Given the description of an element on the screen output the (x, y) to click on. 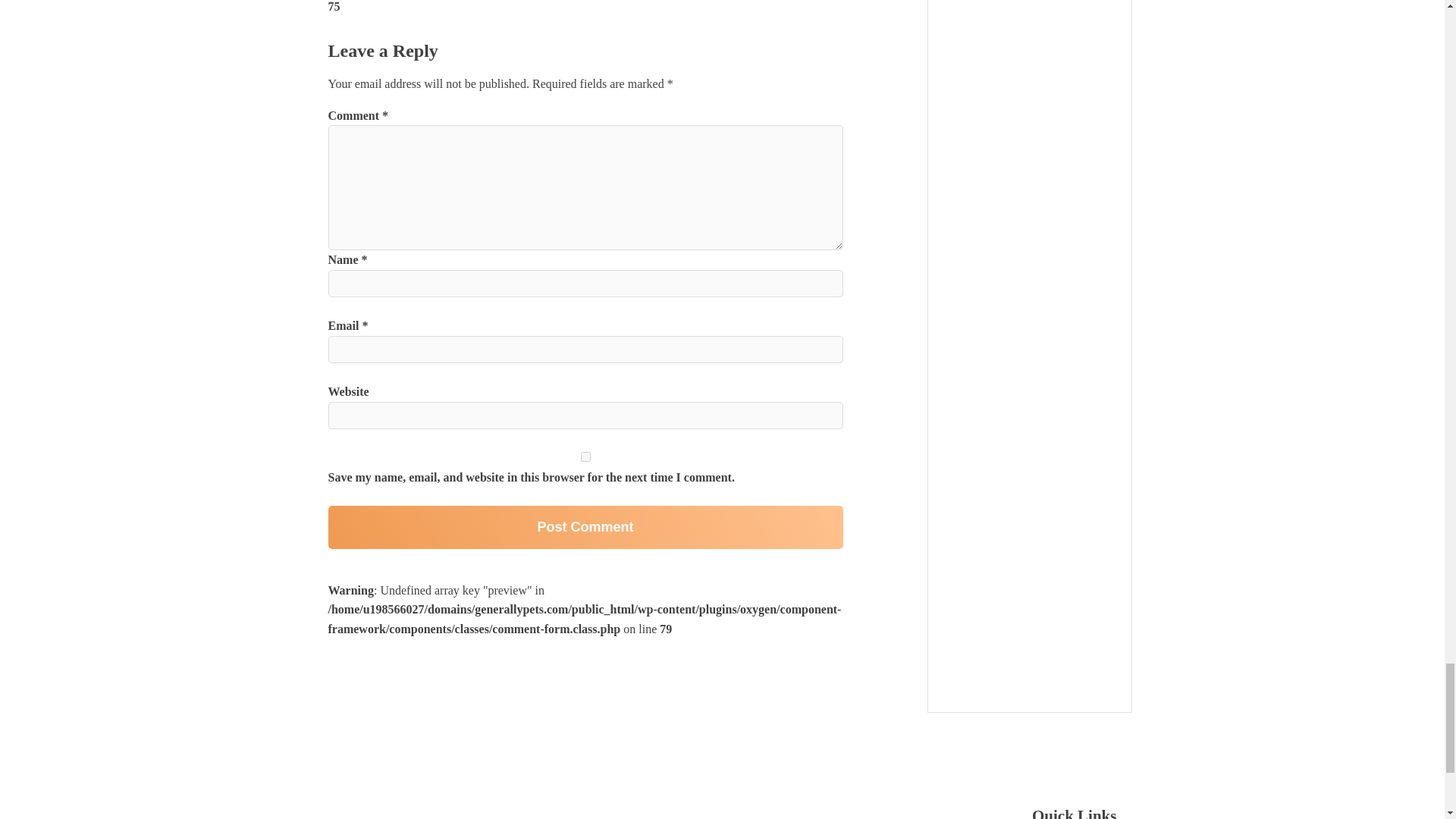
Post Comment (585, 527)
Post Comment (585, 527)
yes (585, 456)
